Given the description of an element on the screen output the (x, y) to click on. 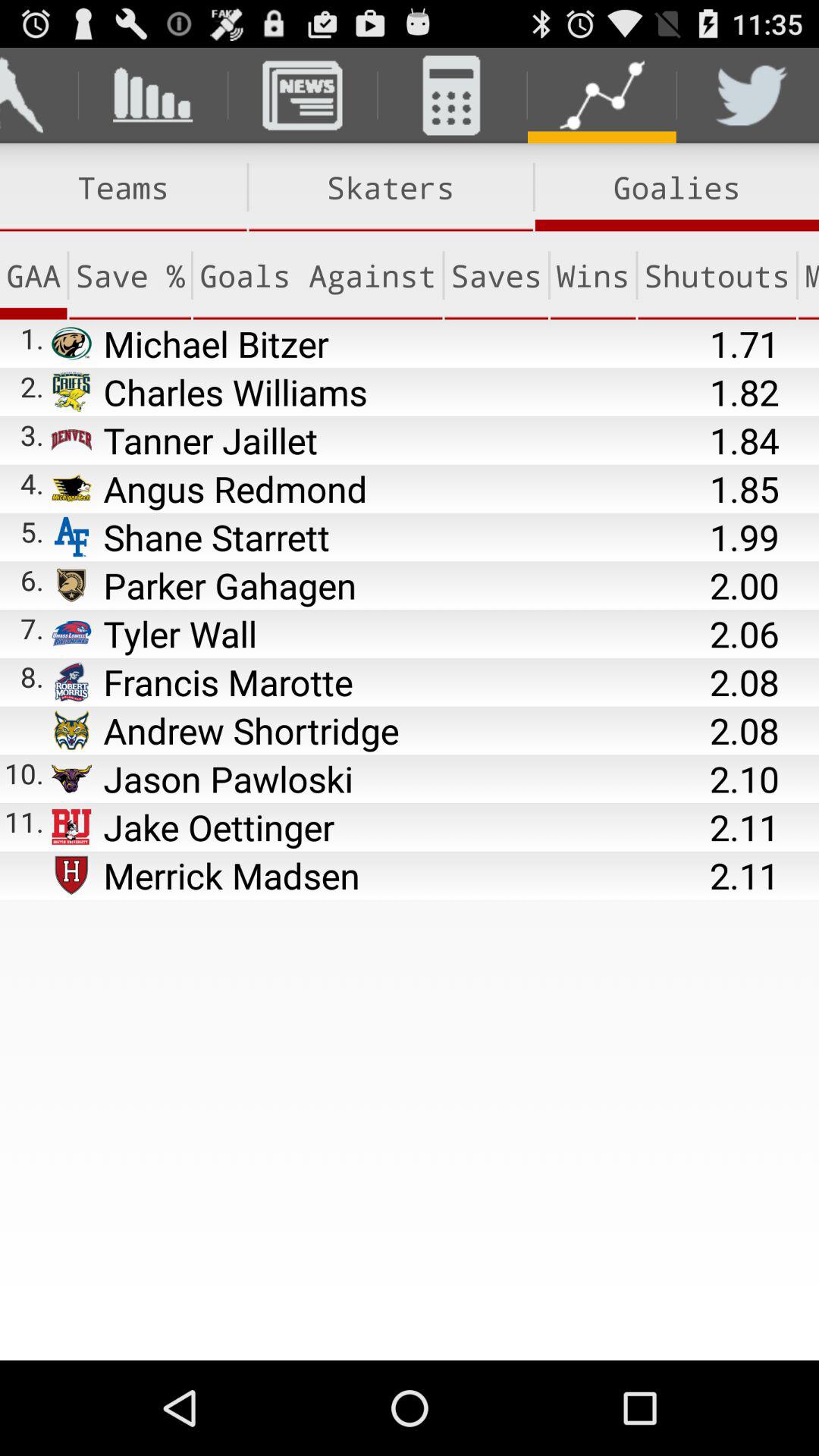
flip until the goals against (317, 275)
